Given the description of an element on the screen output the (x, y) to click on. 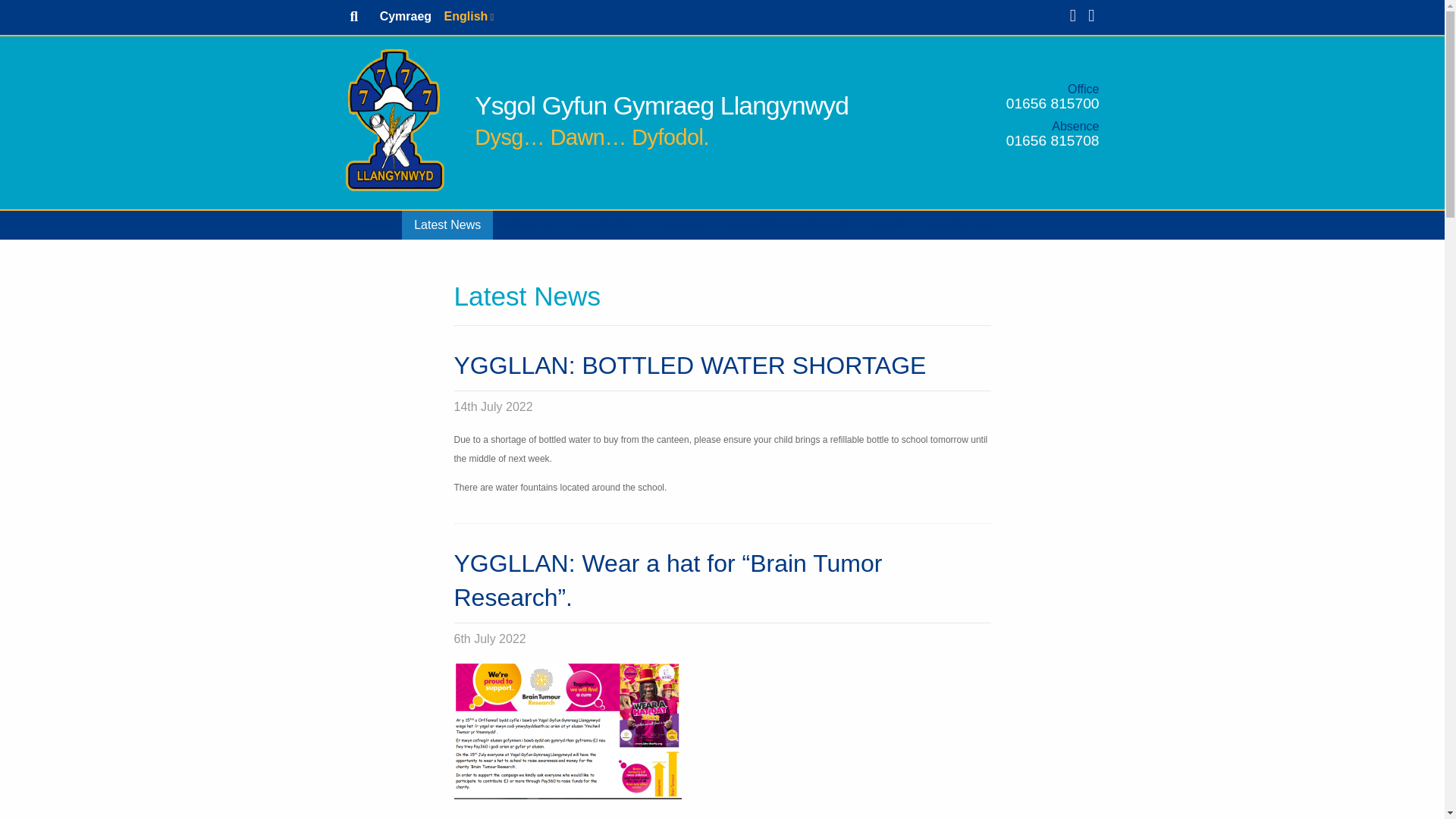
YGGLLAN: BOTTLED WATER SHORTAGE (689, 365)
